Given the description of an element on the screen output the (x, y) to click on. 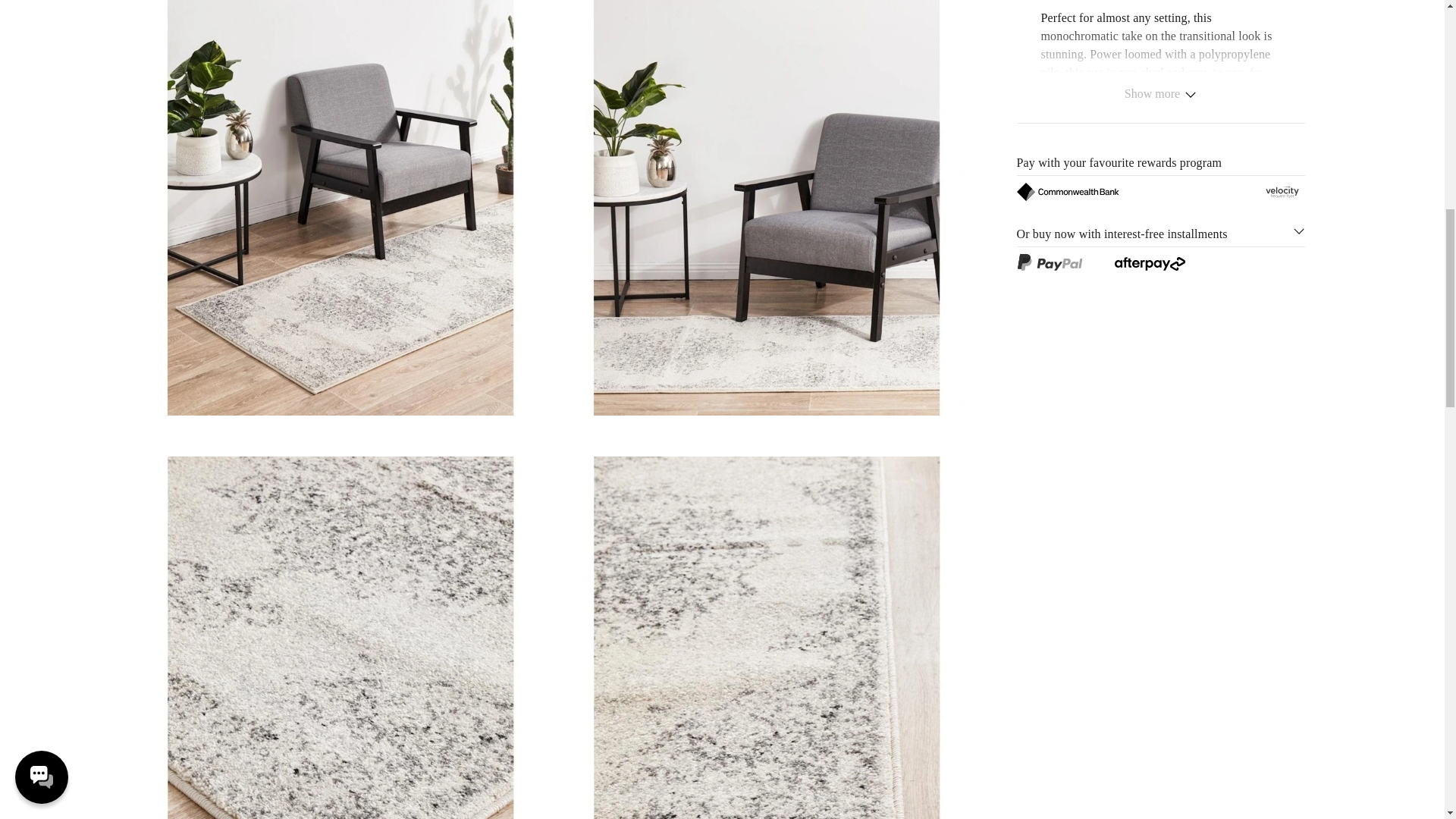
Afterpay (1150, 264)
PayPal Pay in 4 (1048, 262)
